Given the description of an element on the screen output the (x, y) to click on. 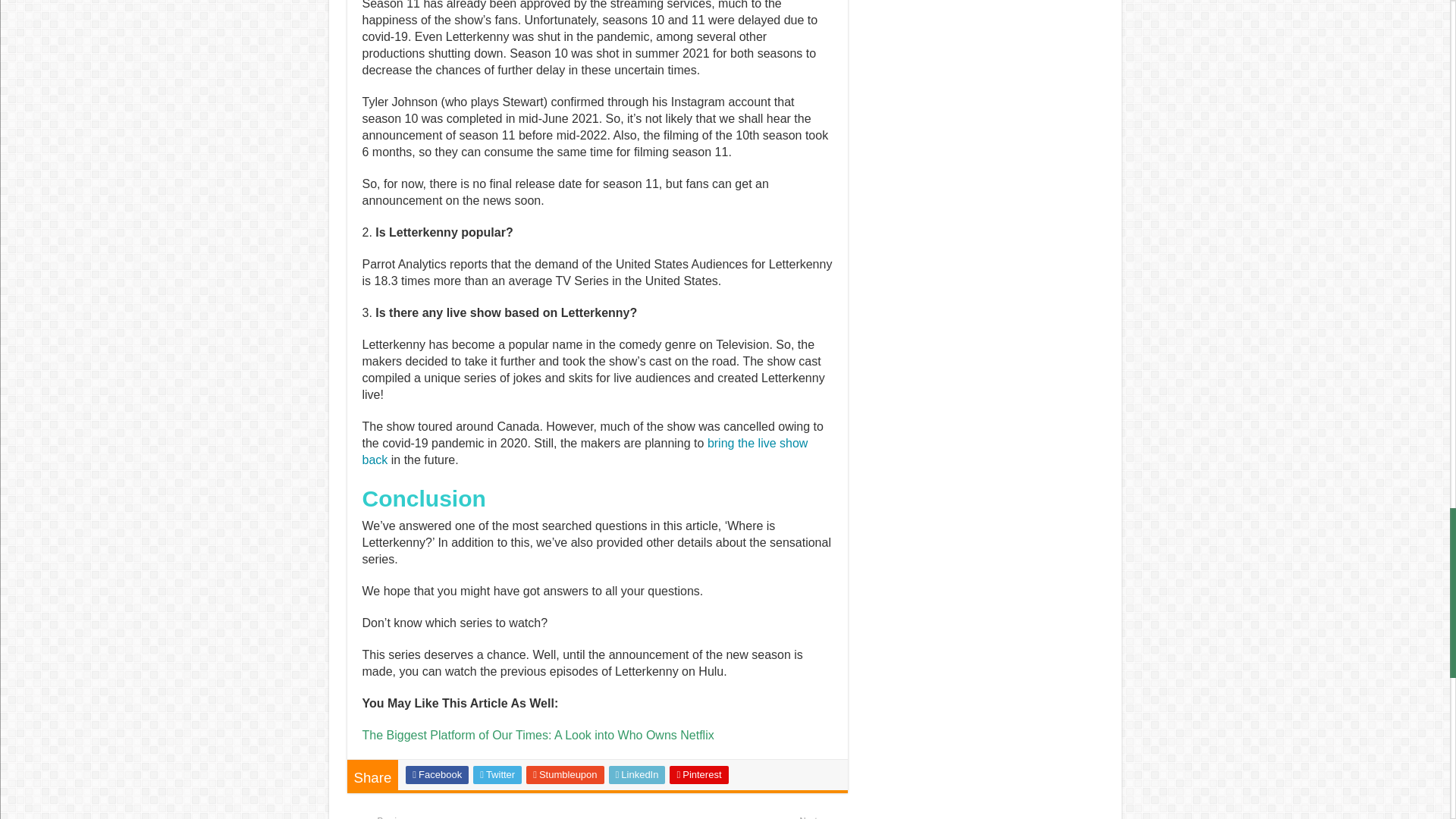
Pinterest (698, 774)
Stumbleupon (564, 774)
Twitter (454, 817)
LinkedIn (497, 774)
Facebook (636, 774)
bring the live show back (437, 774)
